Given the description of an element on the screen output the (x, y) to click on. 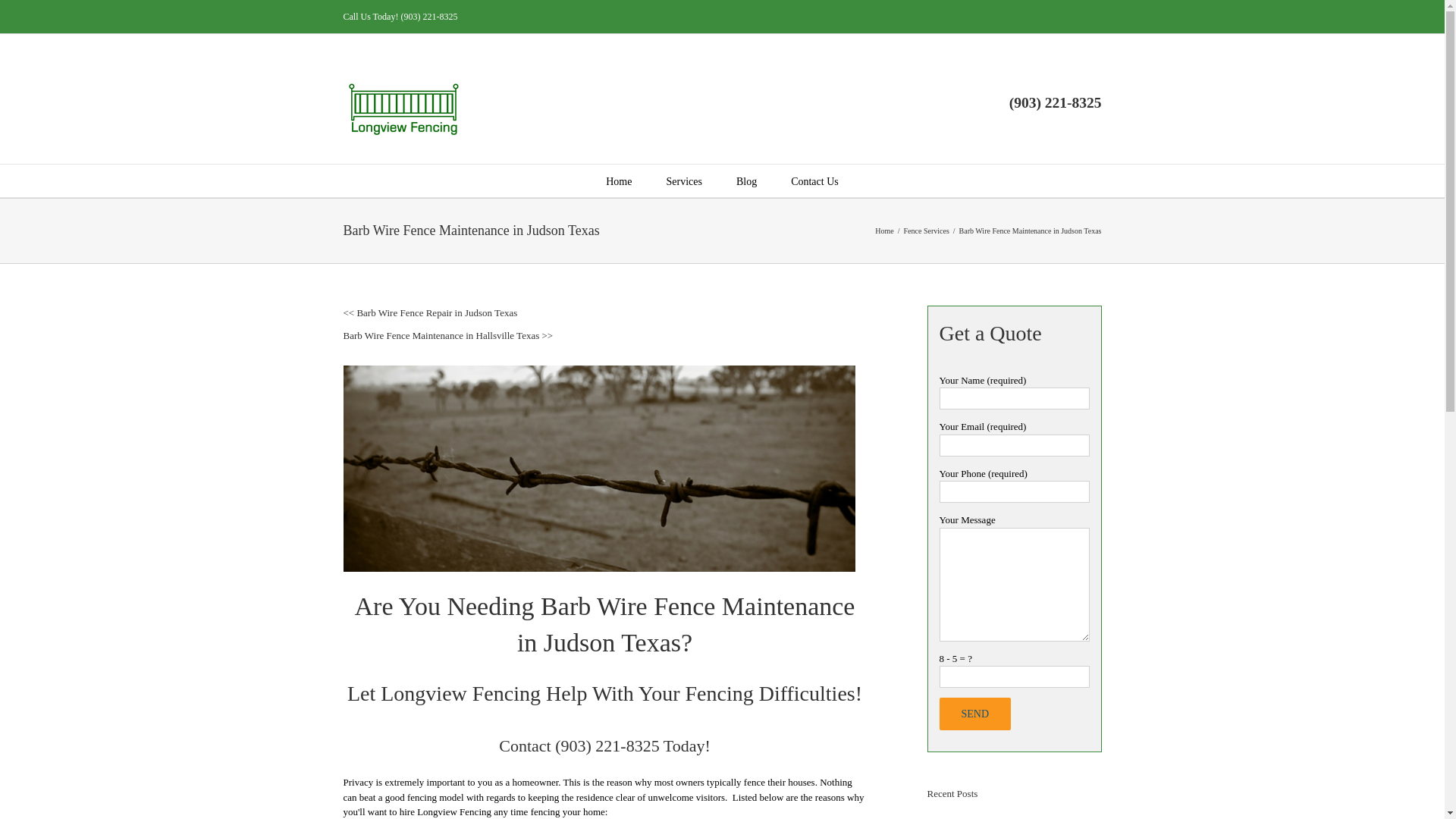
Barb Wire Fence Maintenance (697, 605)
Home (884, 230)
Send (974, 713)
Fence Services (926, 230)
Services (683, 180)
Contact Us (814, 180)
Send (974, 713)
